Given the description of an element on the screen output the (x, y) to click on. 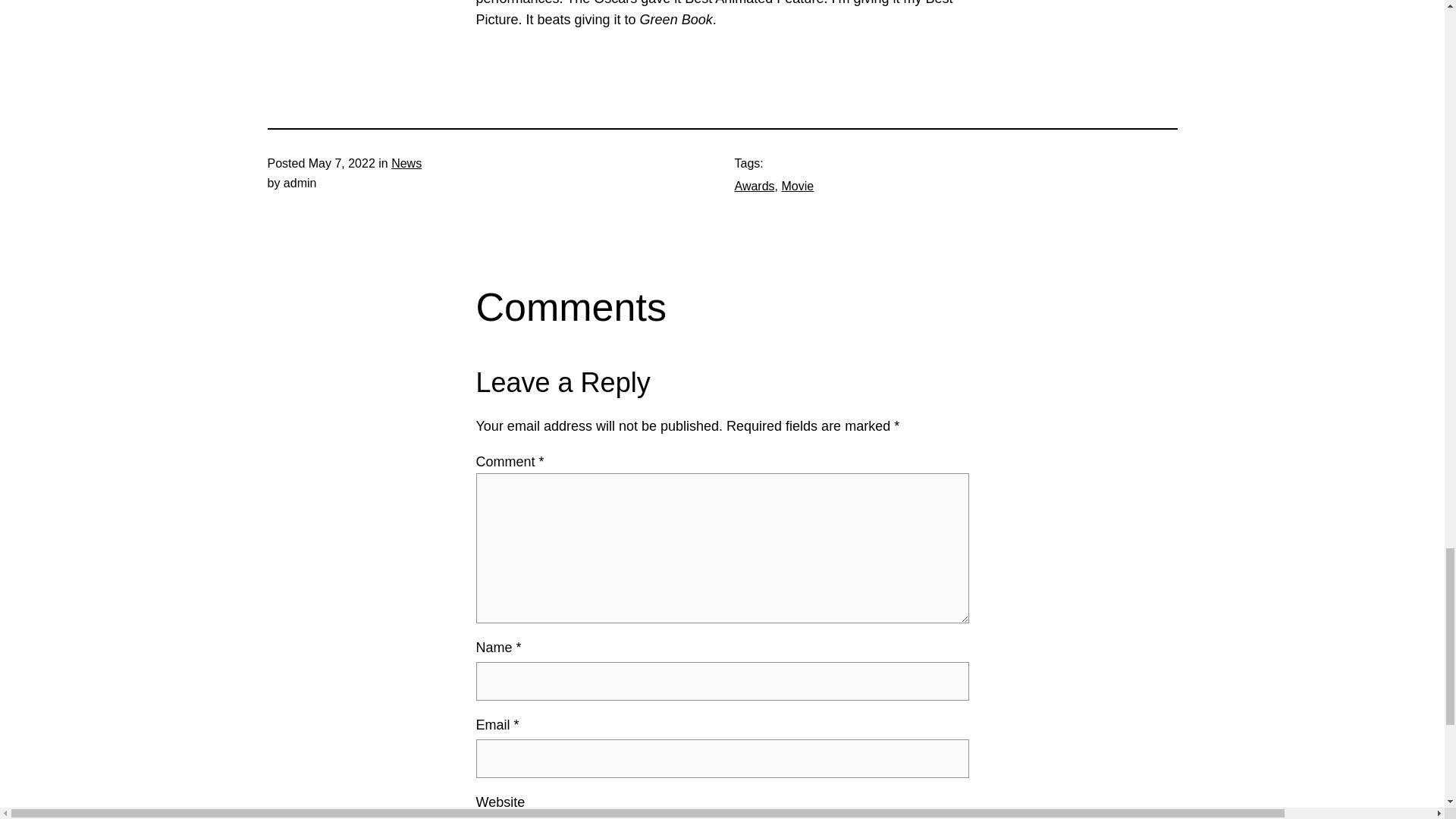
News (406, 163)
Awards (753, 185)
Movie (796, 185)
